Given the description of an element on the screen output the (x, y) to click on. 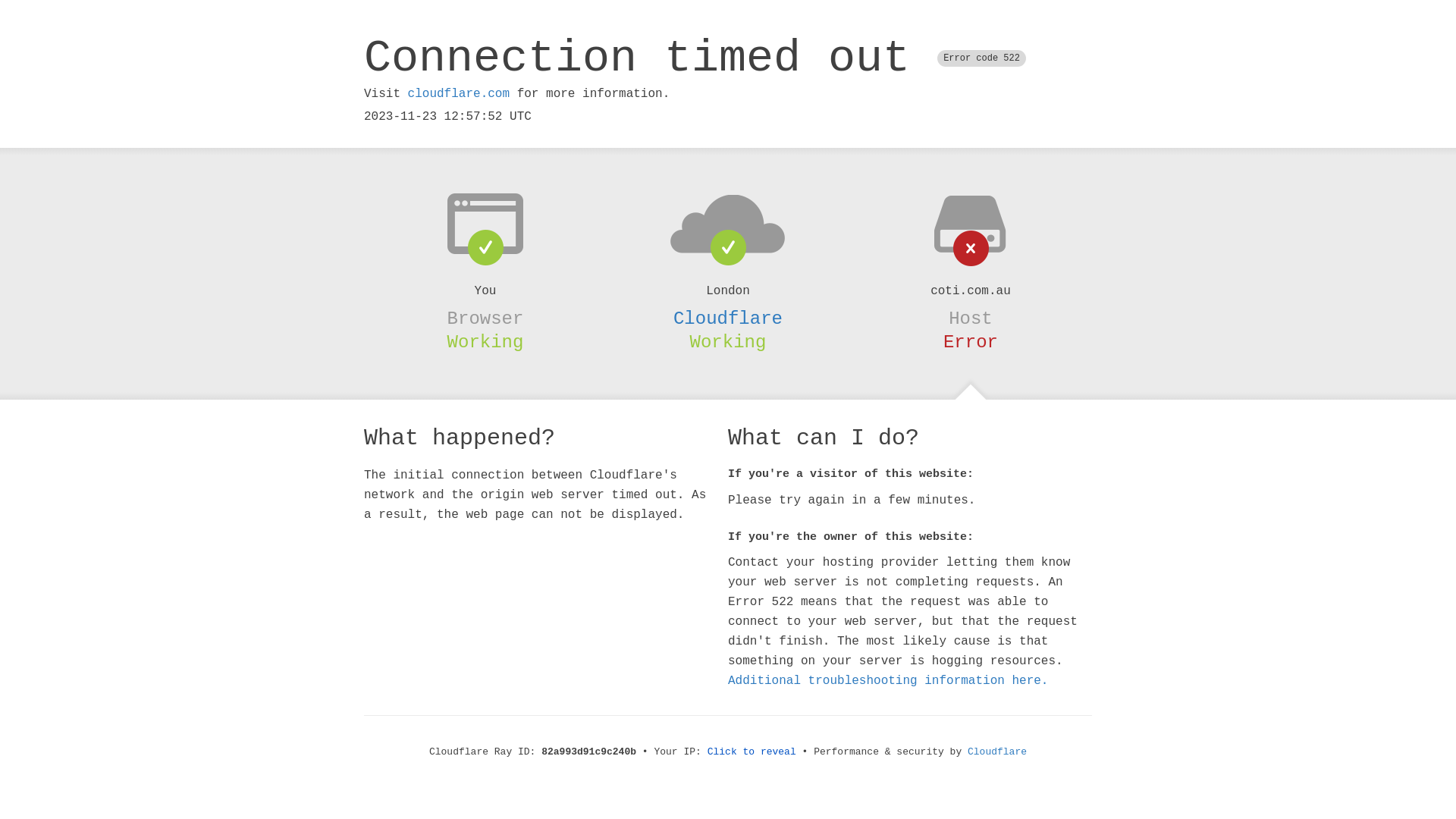
cloudflare.com Element type: text (458, 93)
Cloudflare Element type: text (996, 751)
Cloudflare Element type: text (727, 318)
Additional troubleshooting information here. Element type: text (888, 680)
Click to reveal Element type: text (751, 751)
